Given the description of an element on the screen output the (x, y) to click on. 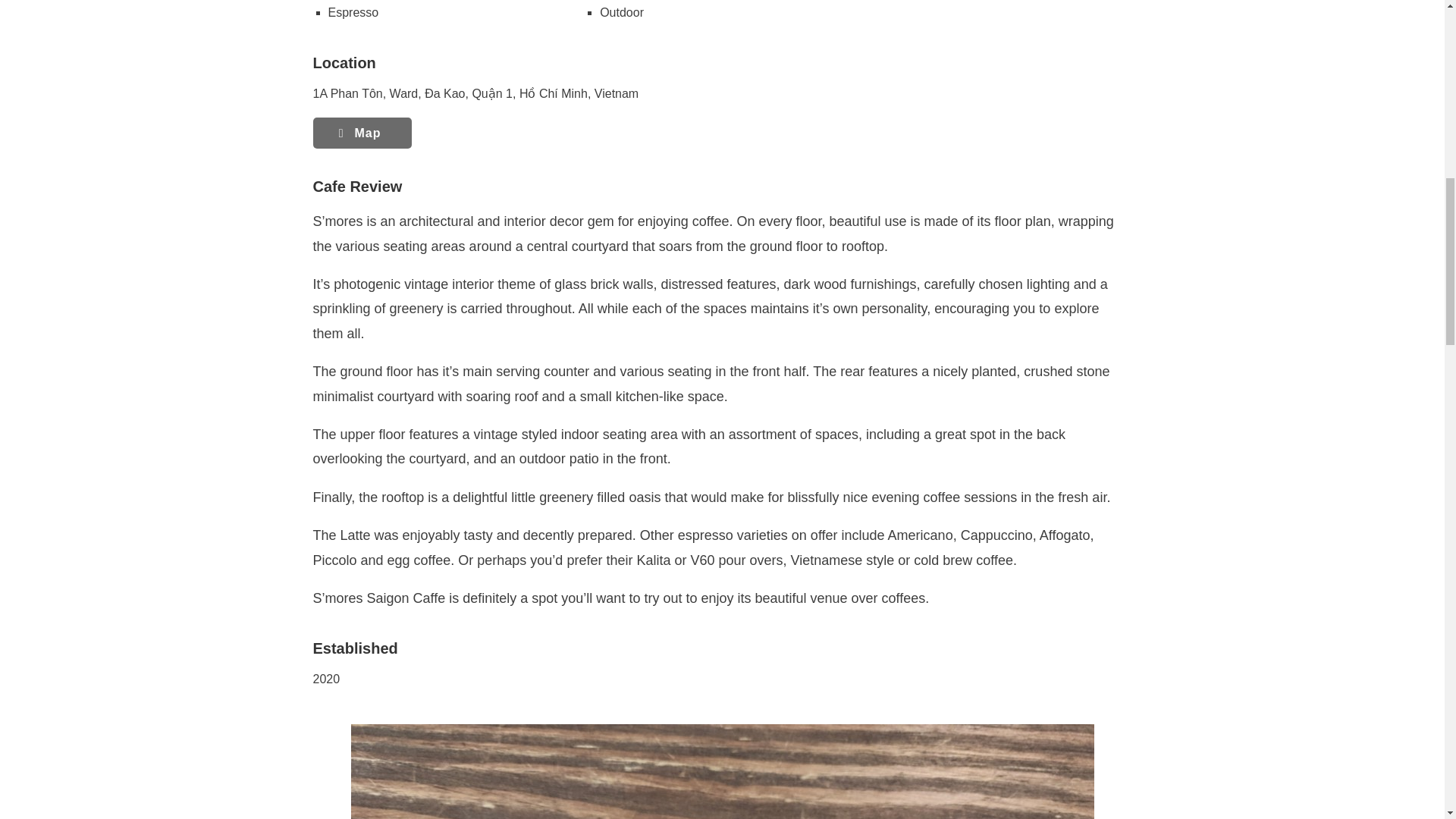
Map (361, 132)
